Given the description of an element on the screen output the (x, y) to click on. 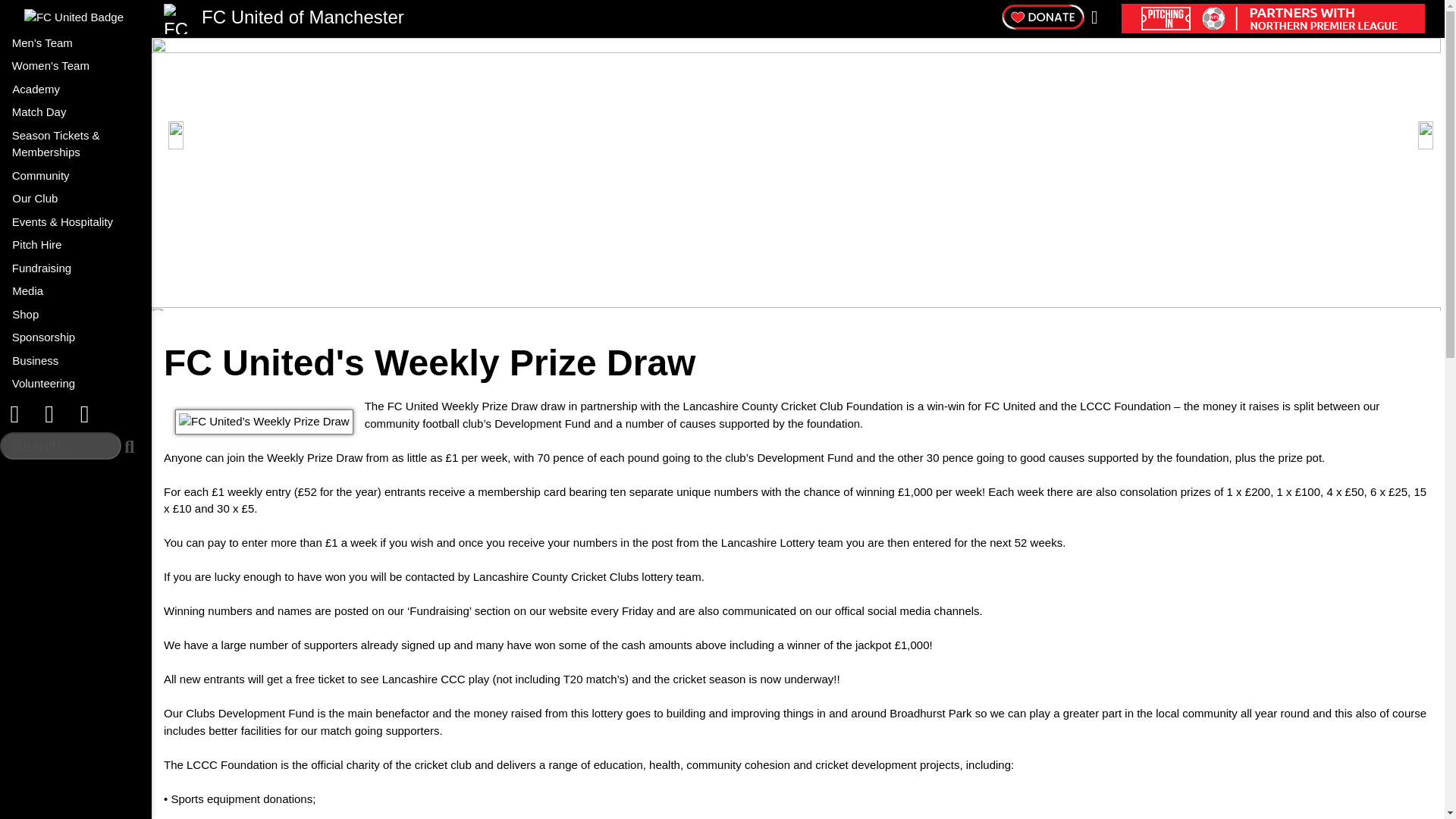
Match Day (75, 112)
Twitter (52, 413)
Community (75, 175)
Facebook (84, 413)
Men's Team (27, 43)
Instagram (17, 413)
Academy (75, 88)
Women's Team (75, 65)
